Given the description of an element on the screen output the (x, y) to click on. 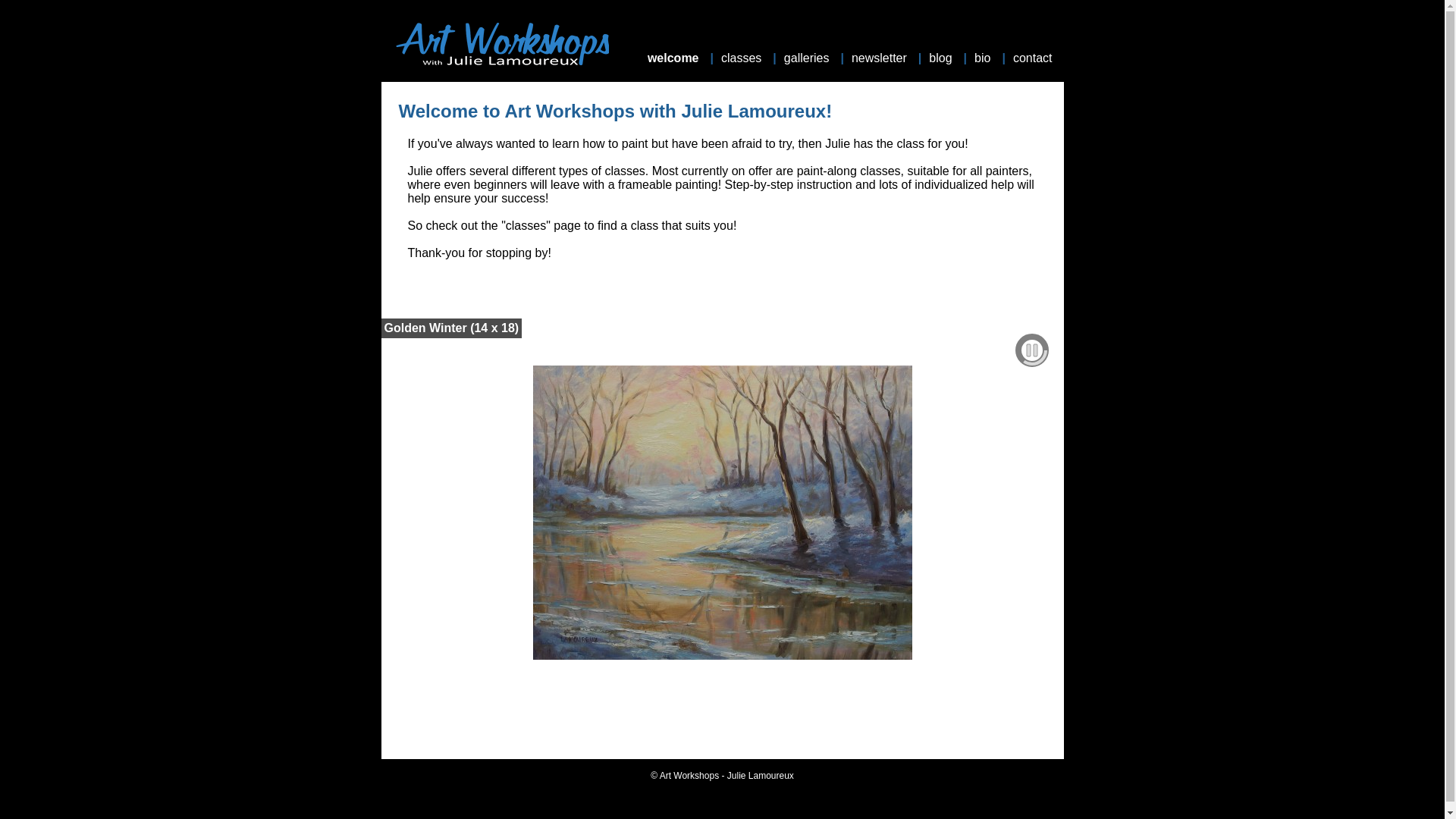
bio Element type: text (984, 58)
newsletter Element type: text (880, 58)
contact Element type: text (1034, 58)
galleries Element type: text (808, 58)
classes Element type: text (743, 58)
welcome Element type: text (674, 58)
blog Element type: text (941, 58)
